Given the description of an element on the screen output the (x, y) to click on. 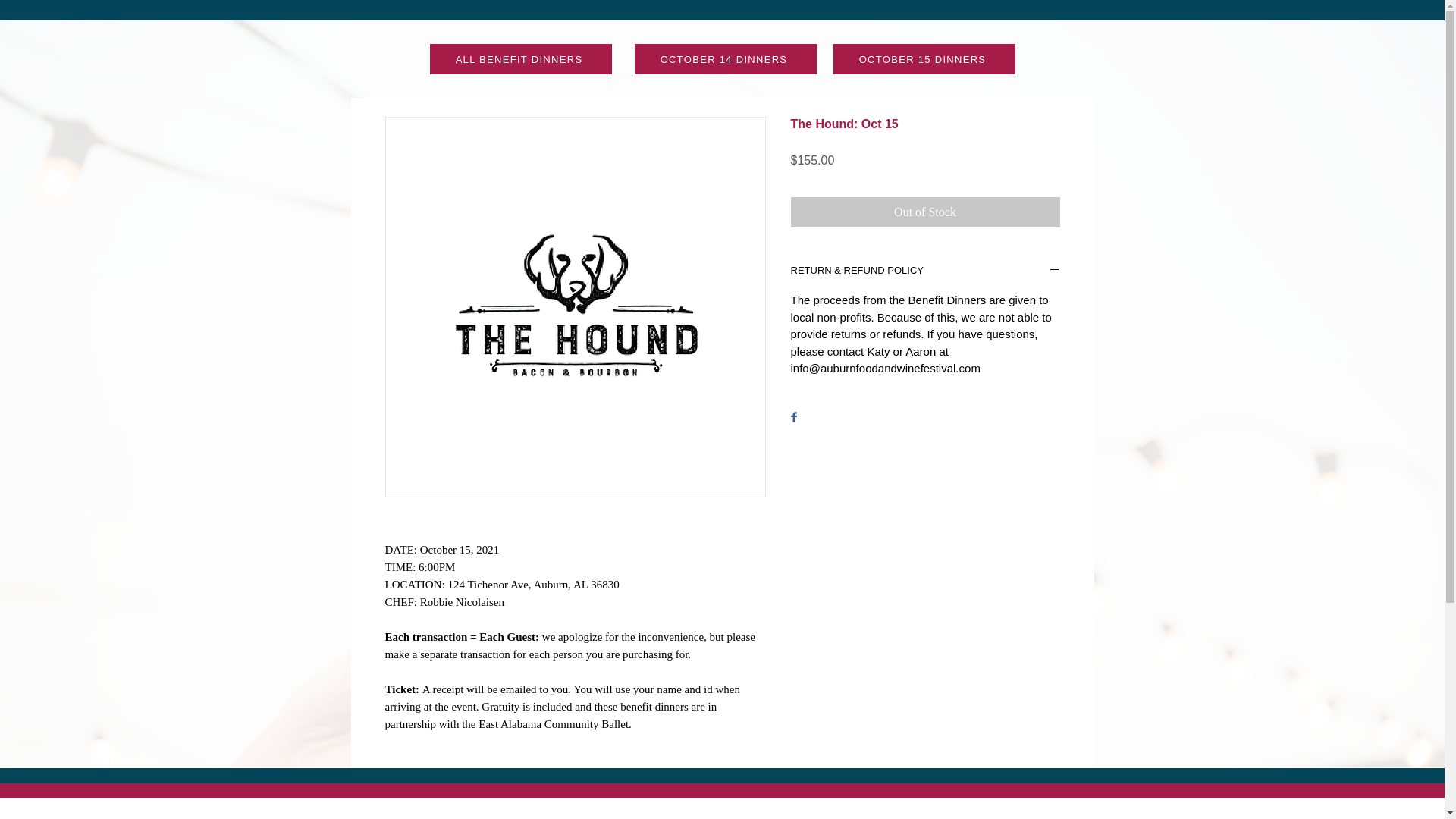
Out of Stock (924, 212)
ALL BENEFIT DINNERS (520, 59)
OCTOBER 14 DINNERS (724, 59)
OCTOBER 15 DINNERS (923, 59)
